Given the description of an element on the screen output the (x, y) to click on. 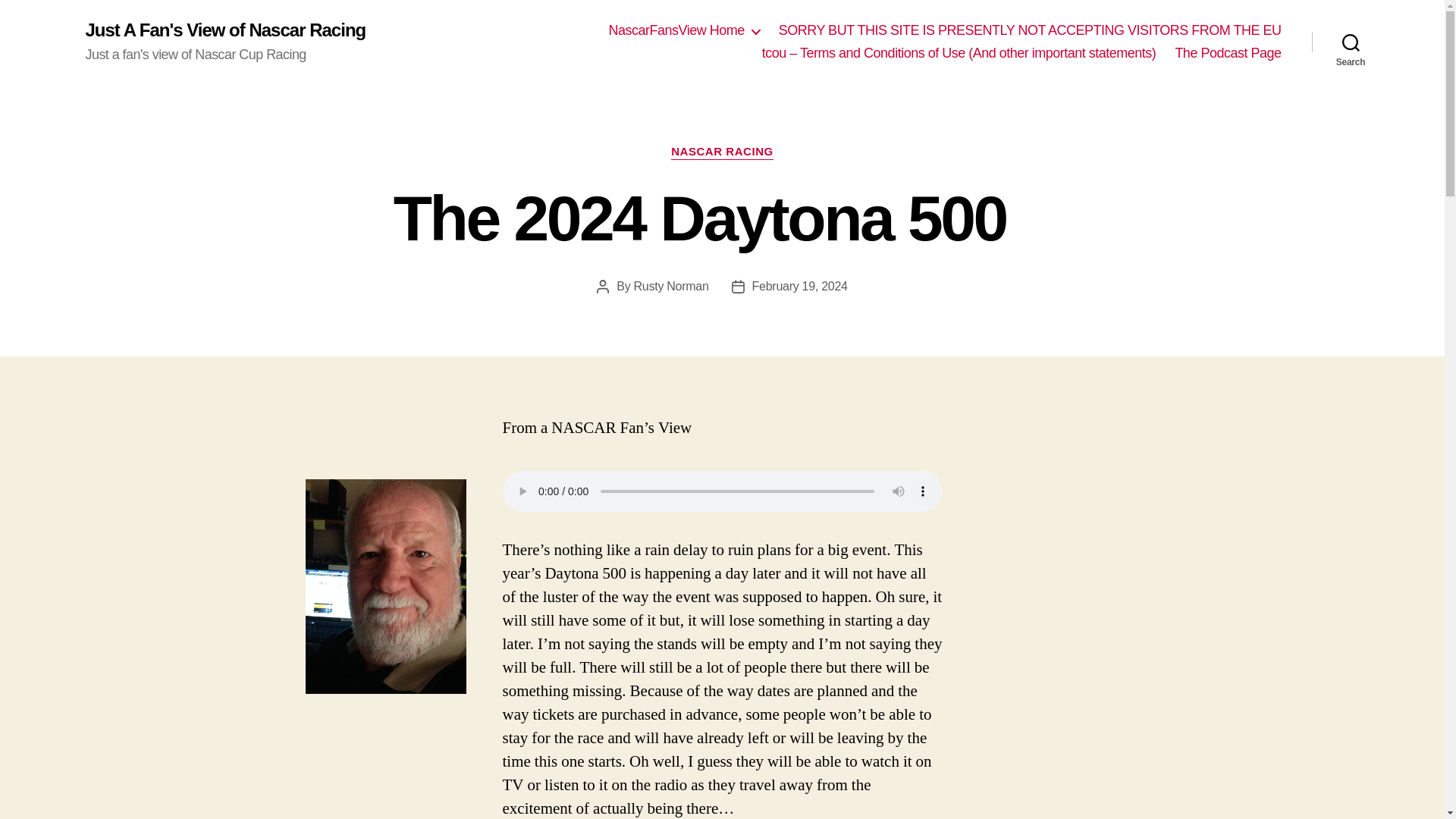
NASCAR RACING (722, 151)
Just A Fan's View of Nascar Racing (224, 30)
NascarFansView Home (683, 30)
Rusty Norman (671, 286)
Search (1350, 41)
The Podcast Page (1227, 53)
February 19, 2024 (799, 286)
